Given the description of an element on the screen output the (x, y) to click on. 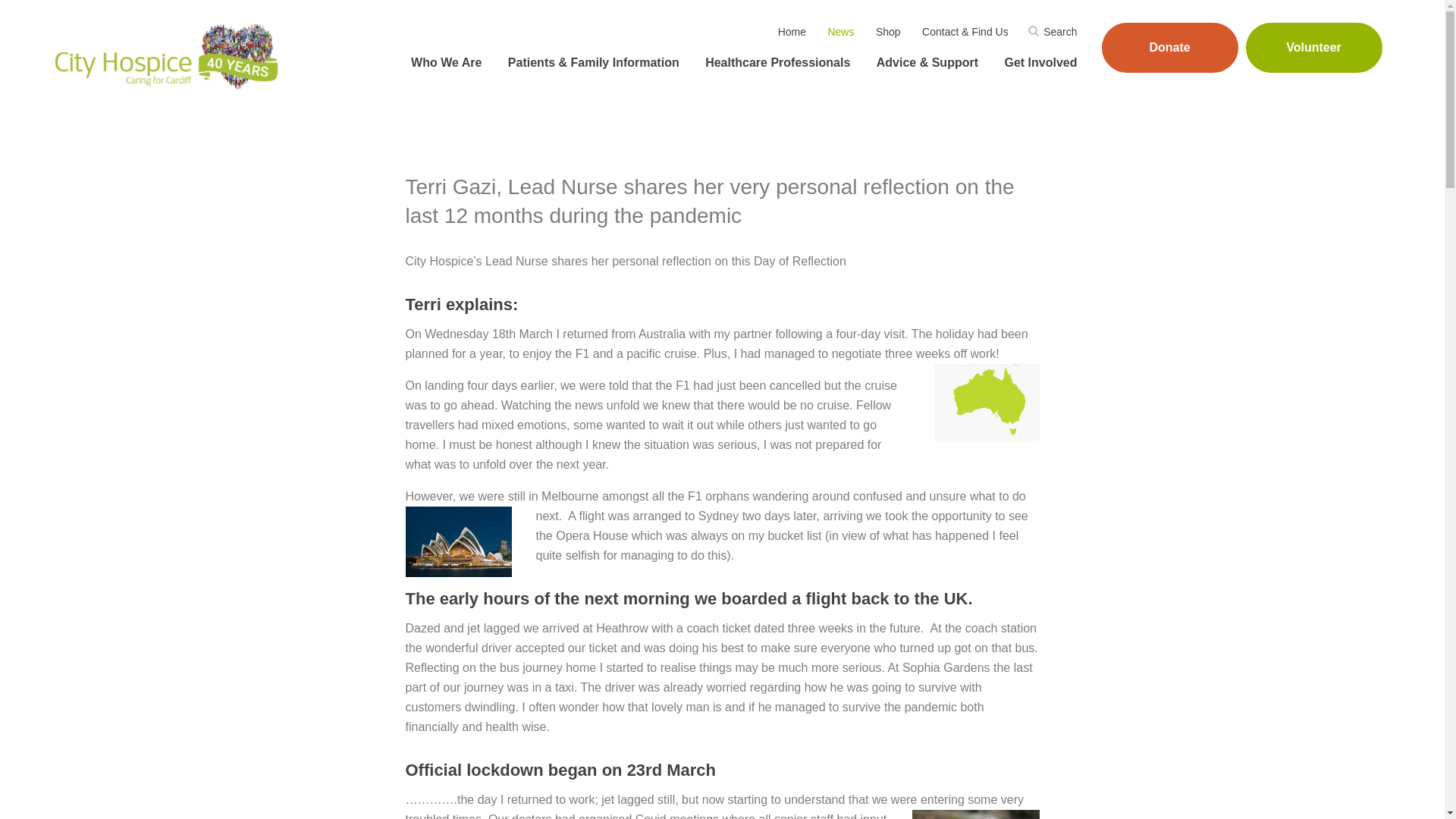
Donate (1168, 47)
Who We Are (443, 62)
Volunteer (1312, 47)
City Hospice (168, 55)
